Given the description of an element on the screen output the (x, y) to click on. 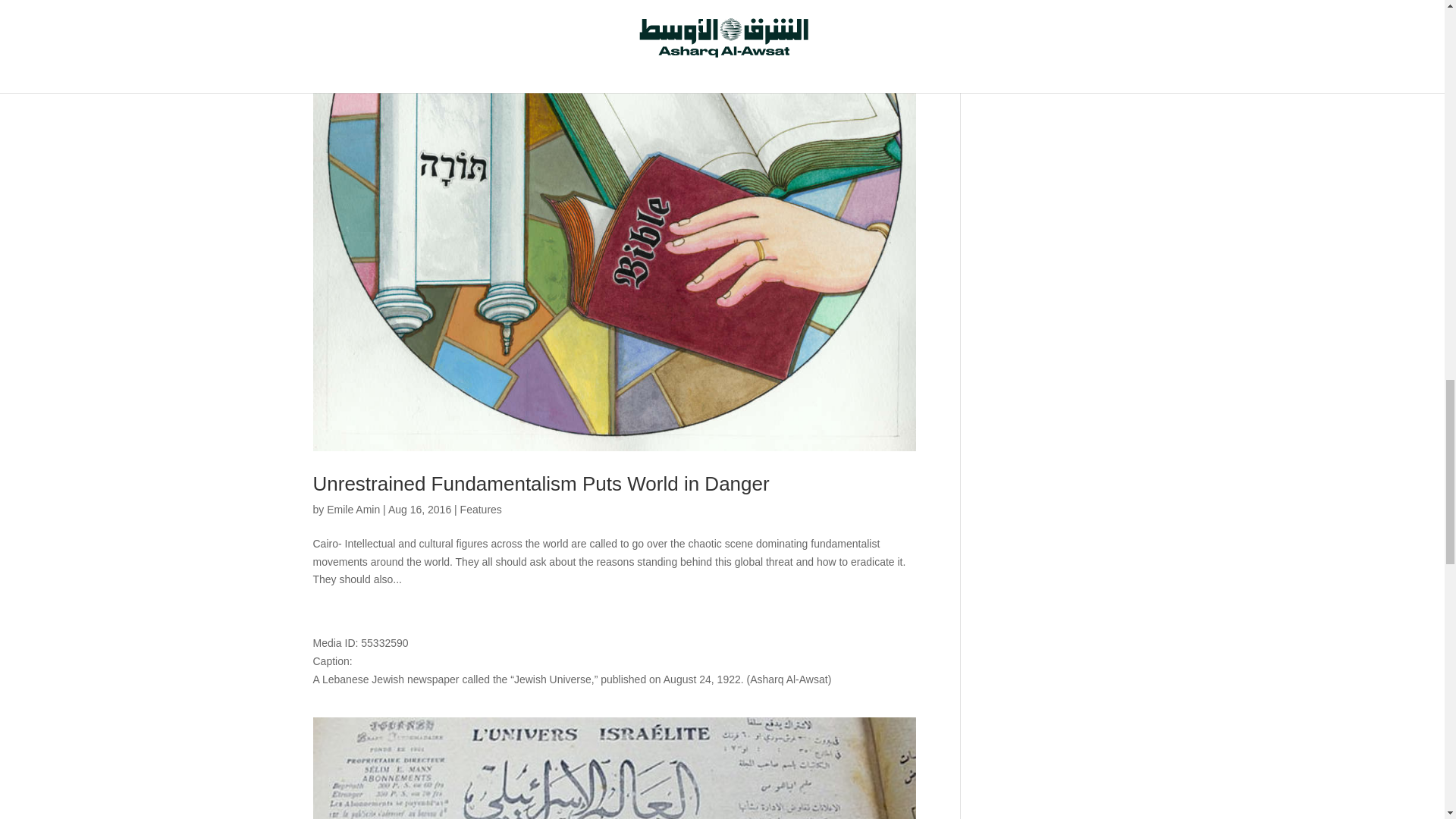
Features (481, 509)
Unrestrained Fundamentalism Puts World in Danger (540, 483)
Posts by Emile Amin (353, 509)
Emile Amin (353, 509)
